Given the description of an element on the screen output the (x, y) to click on. 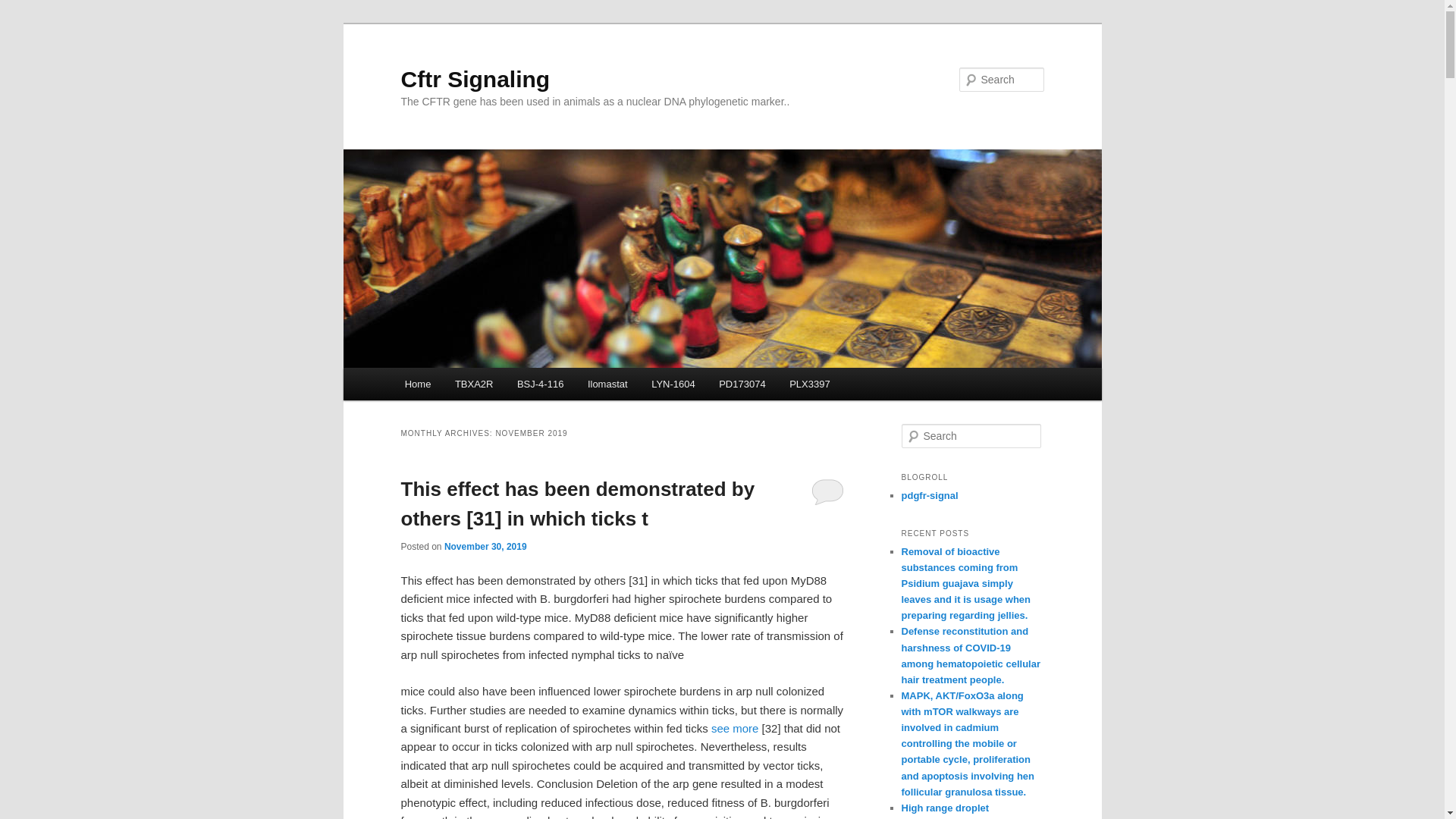
Skip to secondary content (479, 386)
PLX3397 (809, 383)
see more (734, 727)
BSJ-4-116 (540, 383)
Skip to secondary content (479, 386)
Cftr Signaling (475, 78)
10:14 am (485, 546)
TBXA2R (473, 383)
Home (417, 383)
Home (417, 383)
